Given the description of an element on the screen output the (x, y) to click on. 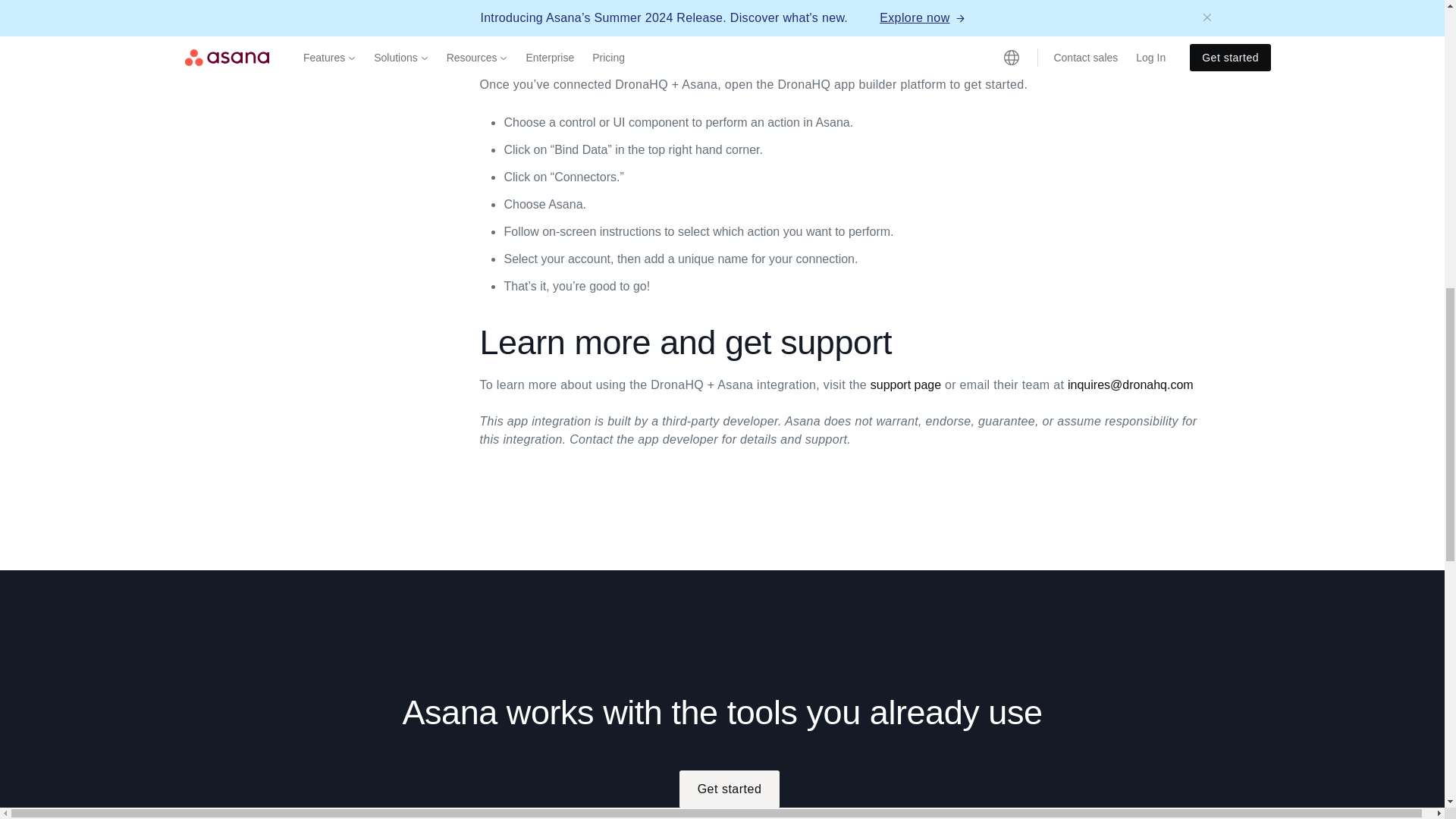
support page (905, 384)
